Given the description of an element on the screen output the (x, y) to click on. 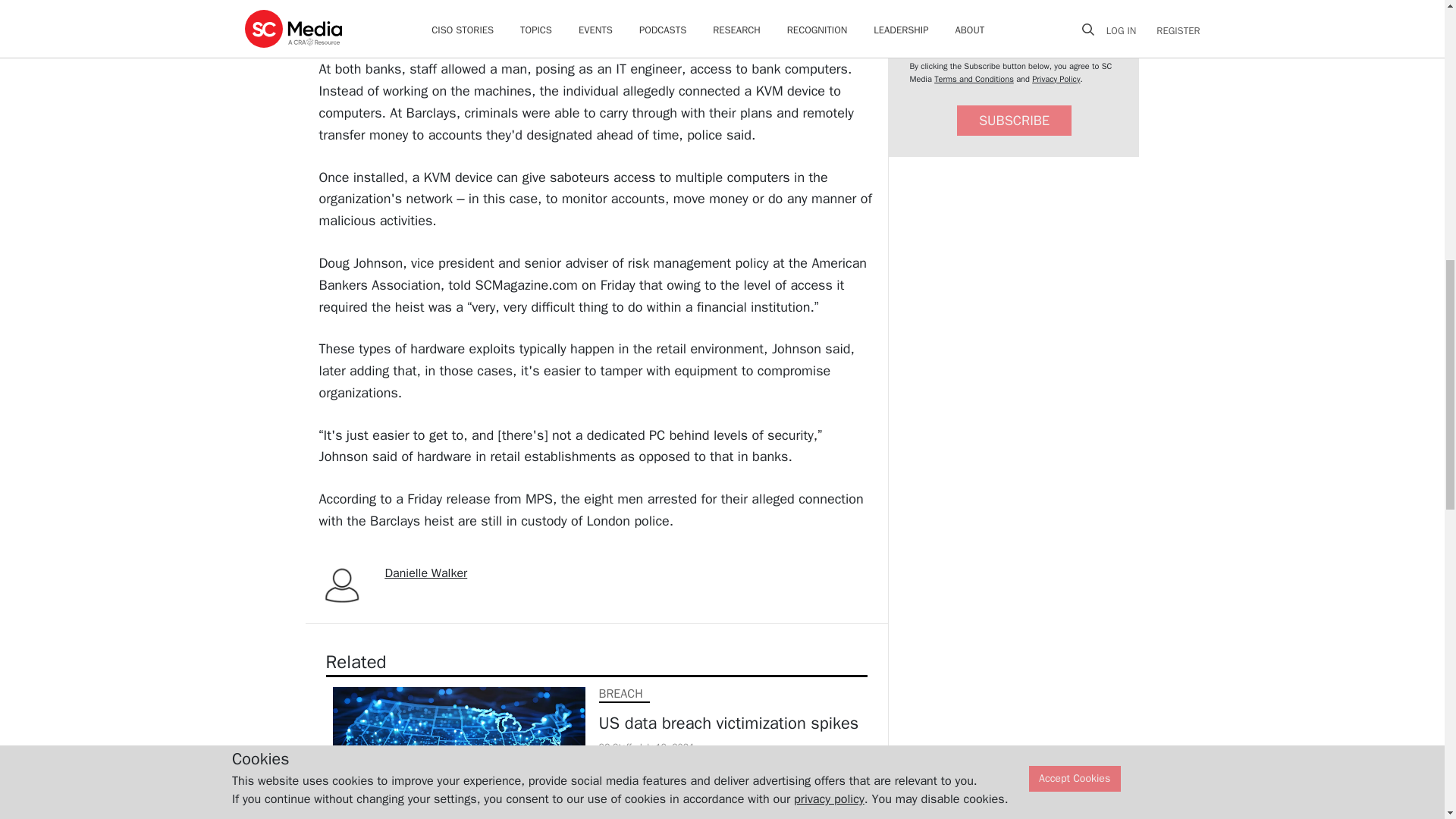
Terms and Conditions (973, 78)
SUBSCRIBE (1013, 120)
SC Staff (614, 746)
US data breach victimization spikes (729, 723)
Privacy Policy (1056, 78)
BREACH (620, 693)
Danielle Walker (426, 572)
